Given the description of an element on the screen output the (x, y) to click on. 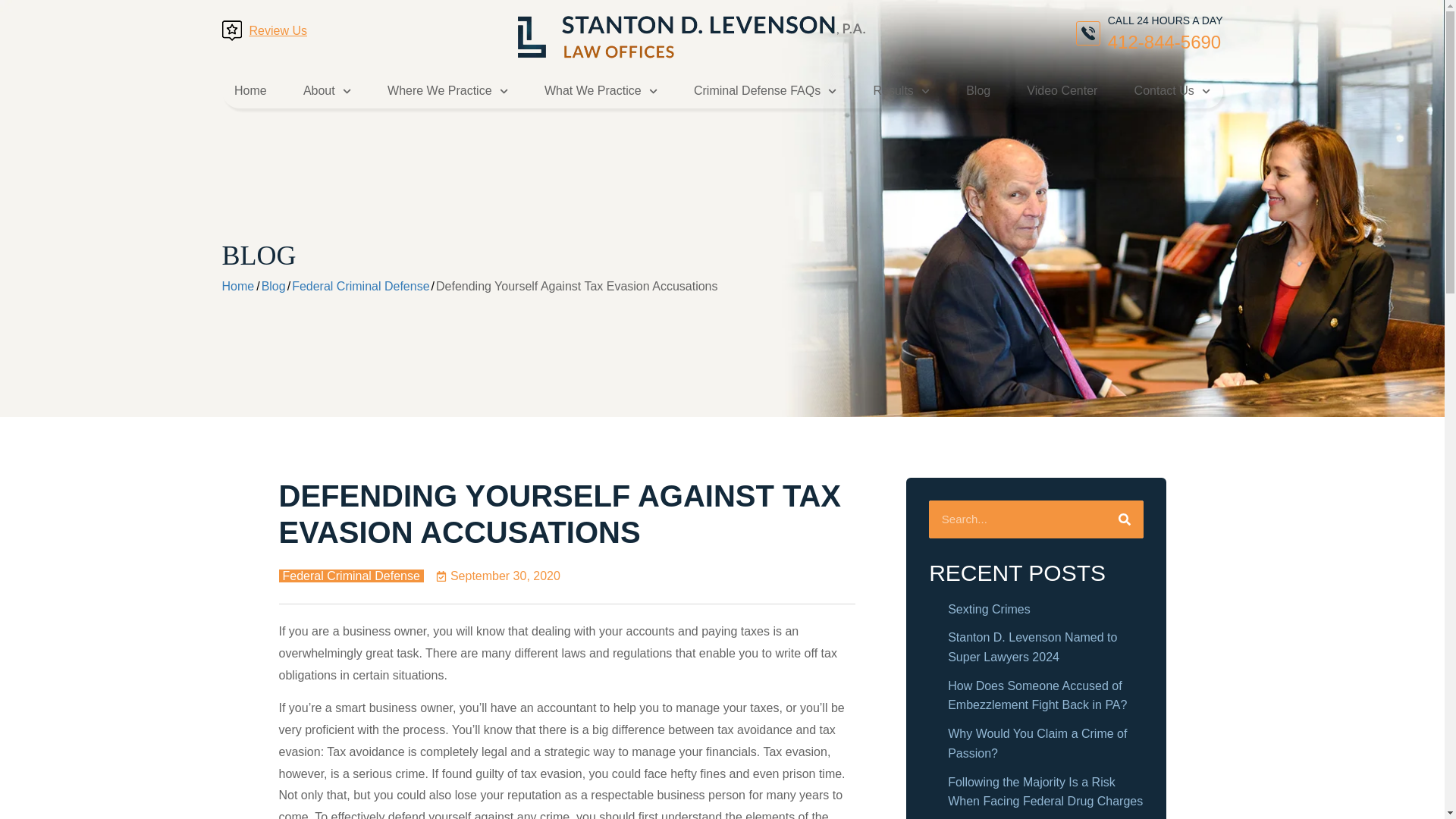
What We Practice (600, 90)
Category Name (360, 286)
Defending Yourself Against Tax Evasion Accusations (576, 286)
Criminal Defense FAQs (764, 90)
Video Center (1061, 90)
Home (250, 90)
Where We Practice (446, 90)
Blog (978, 90)
Contact Us (1172, 90)
412-844-5690 (1164, 41)
About (325, 90)
Results (901, 90)
Defending Yourself Against Tax Evasion Accusations (273, 286)
Review Us (276, 30)
